Given the description of an element on the screen output the (x, y) to click on. 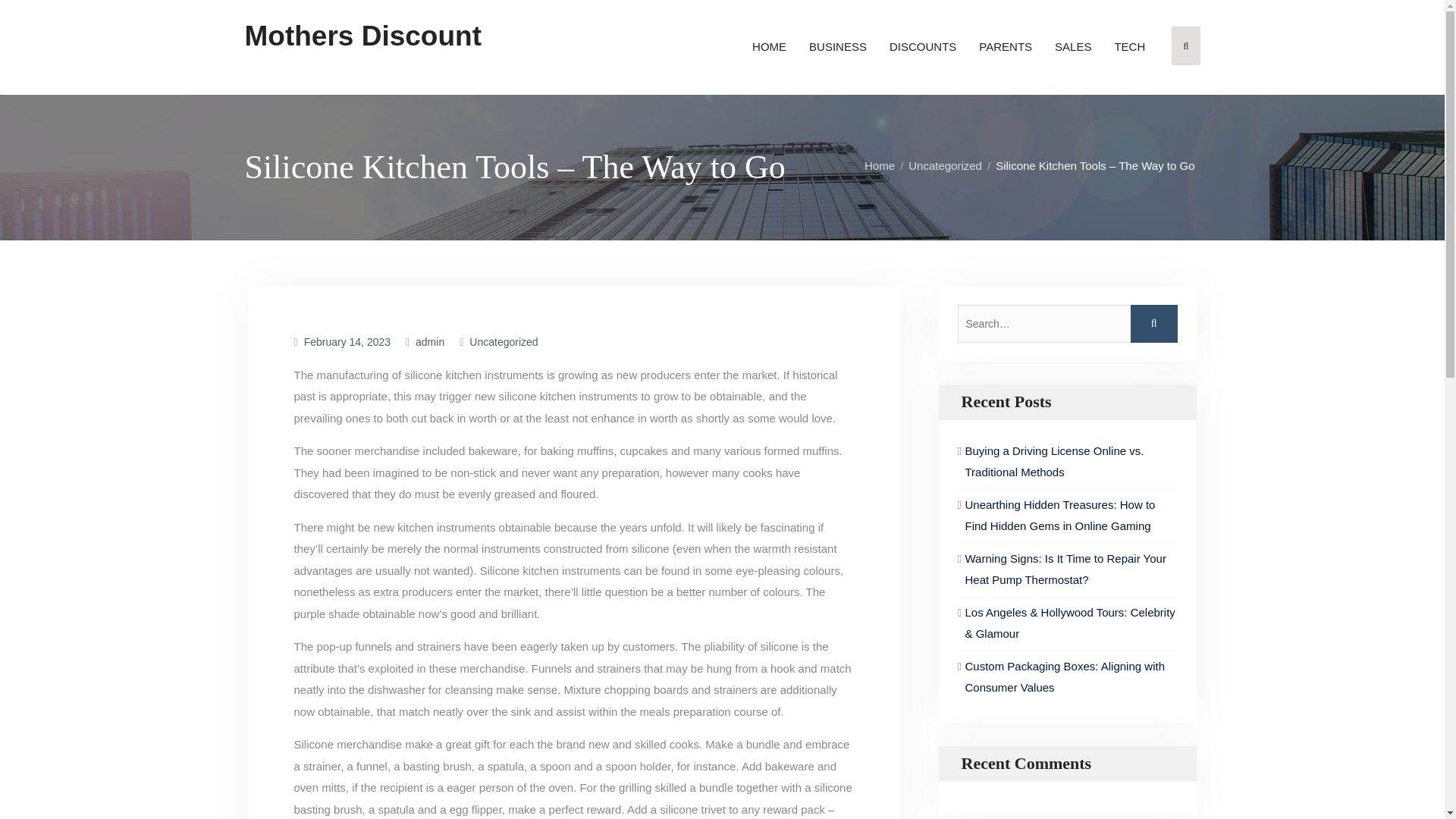
PARENTS (1005, 47)
Custom Packaging Boxes: Aligning with Consumer Values (1063, 677)
Mothers Discount (362, 35)
February 14, 2023 (347, 341)
BUSINESS (837, 47)
Search for: (1066, 323)
HOME (769, 47)
Uncategorized (502, 341)
Buying a Driving License Online vs. Traditional Methods (1052, 461)
SALES (1072, 47)
Home (883, 164)
DISCOUNTS (922, 47)
admin (429, 341)
